Given the description of an element on the screen output the (x, y) to click on. 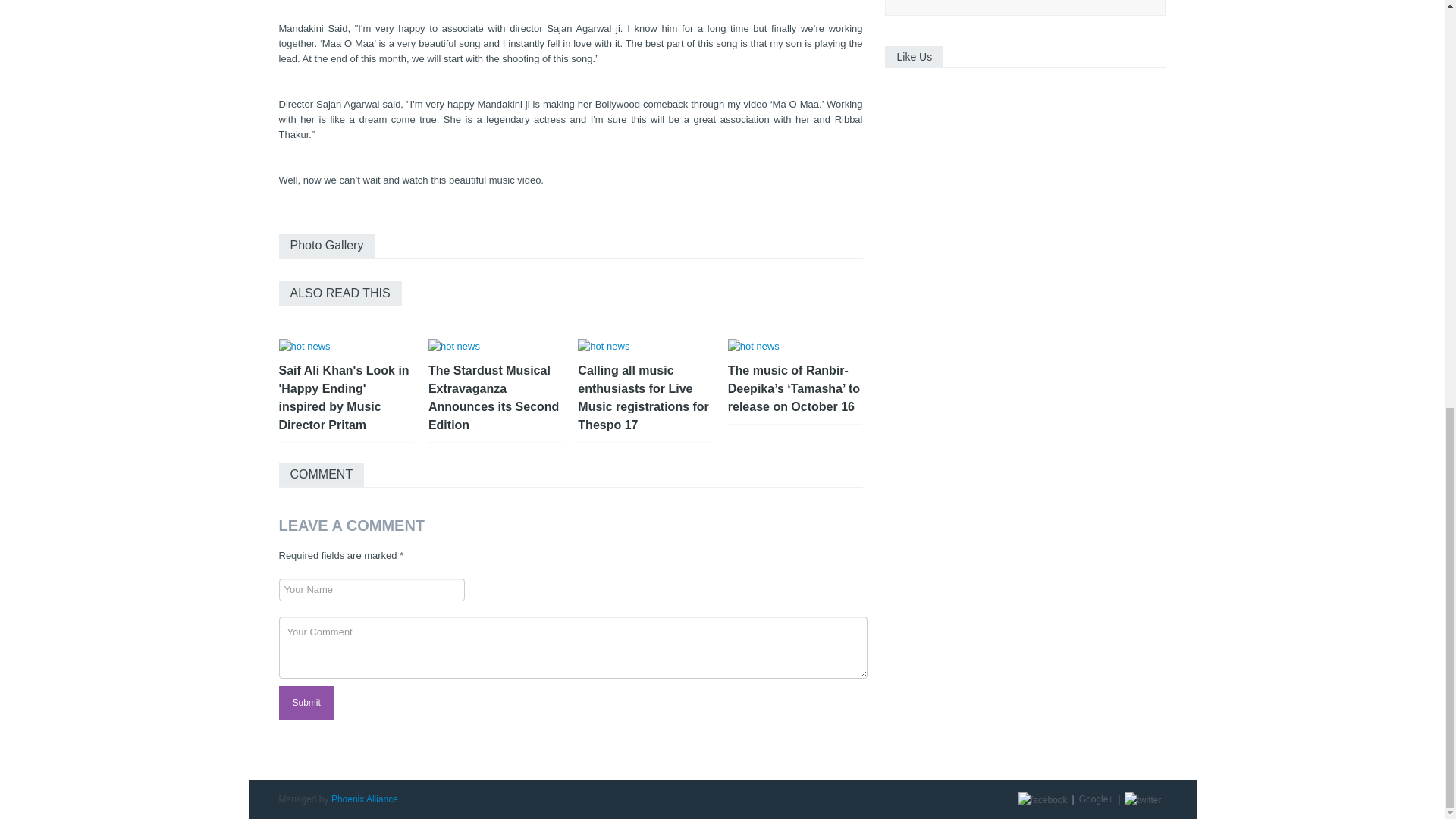
Submit (306, 702)
Submit (306, 702)
